Given the description of an element on the screen output the (x, y) to click on. 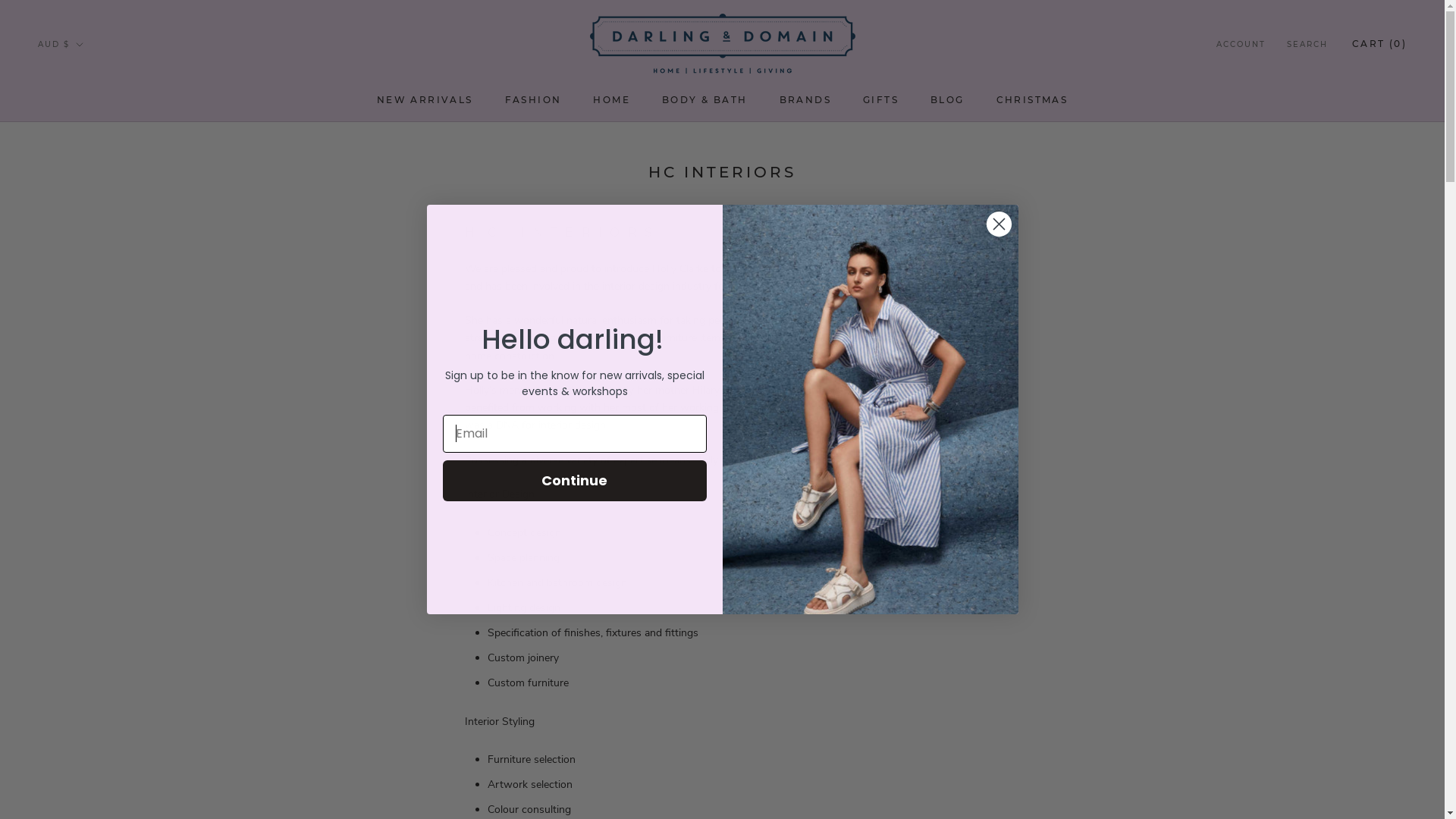
ALL Element type: text (86, 116)
GMD Element type: text (86, 779)
AFN Element type: text (86, 96)
FASHION Element type: text (533, 99)
NEW ARRIVALS
NEW ARRIVALS Element type: text (424, 99)
DKK Element type: text (86, 598)
BBD Element type: text (86, 257)
CRC Element type: text (86, 518)
AWG Element type: text (86, 196)
SEARCH Element type: text (1306, 44)
CAD Element type: text (86, 437)
BOB Element type: text (86, 357)
GIFTS Element type: text (880, 99)
AMD Element type: text (86, 136)
AUD Element type: text (86, 176)
BODY & BATH Element type: text (704, 99)
HOME Element type: text (611, 99)
EUR Element type: text (86, 699)
BGN Element type: text (86, 297)
H  C    I N T E R I O R S Element type: text (559, 232)
CART (0) Element type: text (1379, 43)
DJF Element type: text (86, 578)
FKP Element type: text (86, 739)
ACCOUNT Element type: text (1240, 44)
GBP Element type: text (86, 759)
GNF Element type: text (86, 799)
BSD Element type: text (86, 377)
CHRISTMAS Element type: text (1032, 99)
BWP Element type: text (86, 397)
DZD Element type: text (86, 638)
EGP Element type: text (86, 659)
CZK Element type: text (86, 558)
ETB Element type: text (86, 678)
BND Element type: text (86, 337)
BIF Element type: text (86, 317)
FJD Element type: text (86, 719)
BRANDS Element type: text (805, 99)
BLOG
BLOG Element type: text (947, 99)
CVE Element type: text (86, 538)
AUD $ Element type: text (60, 45)
CDF Element type: text (86, 458)
ANG Element type: text (86, 156)
BZD Element type: text (86, 417)
BAM Element type: text (86, 236)
AED Element type: text (86, 75)
DOP Element type: text (86, 618)
AZN Element type: text (86, 217)
BDT Element type: text (86, 276)
CNY Element type: text (86, 498)
Hello darling, welcome to Darling & Domain Element type: hover (869, 409)
CHF Element type: text (86, 477)
